Given the description of an element on the screen output the (x, y) to click on. 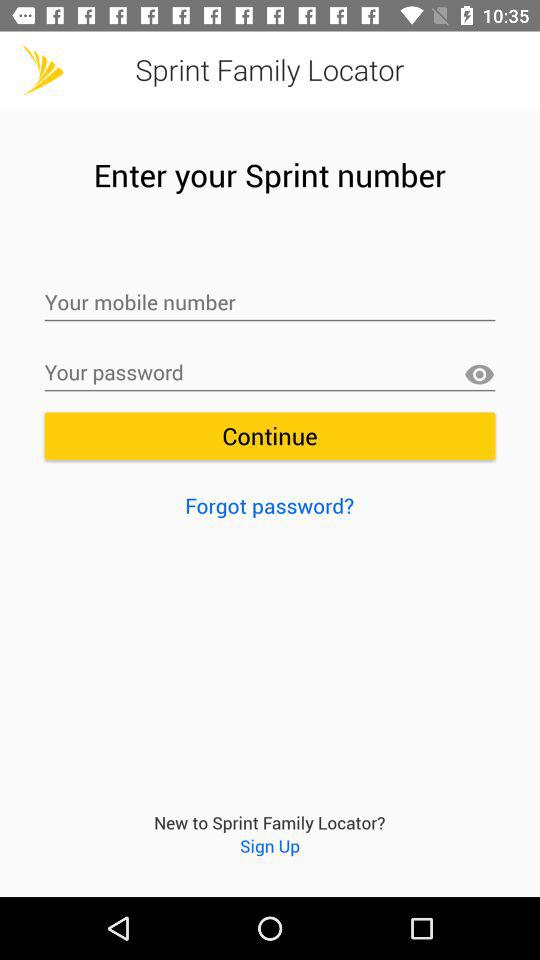
jump to forgot password? icon (269, 505)
